Given the description of an element on the screen output the (x, y) to click on. 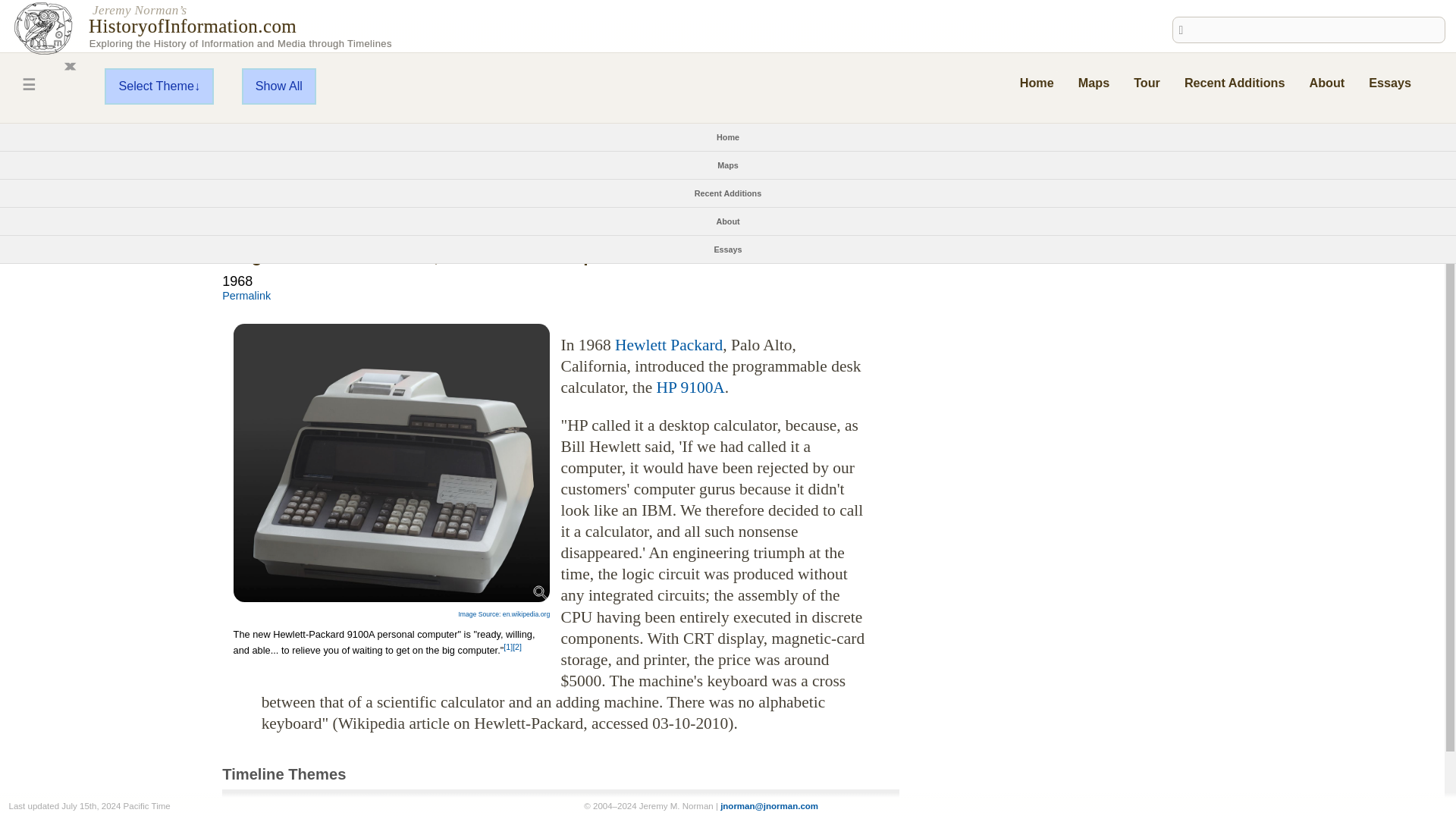
About (1326, 82)
Home (1037, 82)
Image Source: en.wikipedia.org (504, 614)
Permalink (246, 295)
HP 9100A (690, 387)
Show All (278, 85)
Recent Additions (1234, 82)
Maps (1093, 82)
HP9100A programmable calculator (391, 462)
Recent Additions (727, 193)
Hewlett Packard (668, 344)
About (727, 221)
Select Theme (159, 85)
Maps (727, 164)
Essays (1389, 82)
